Given the description of an element on the screen output the (x, y) to click on. 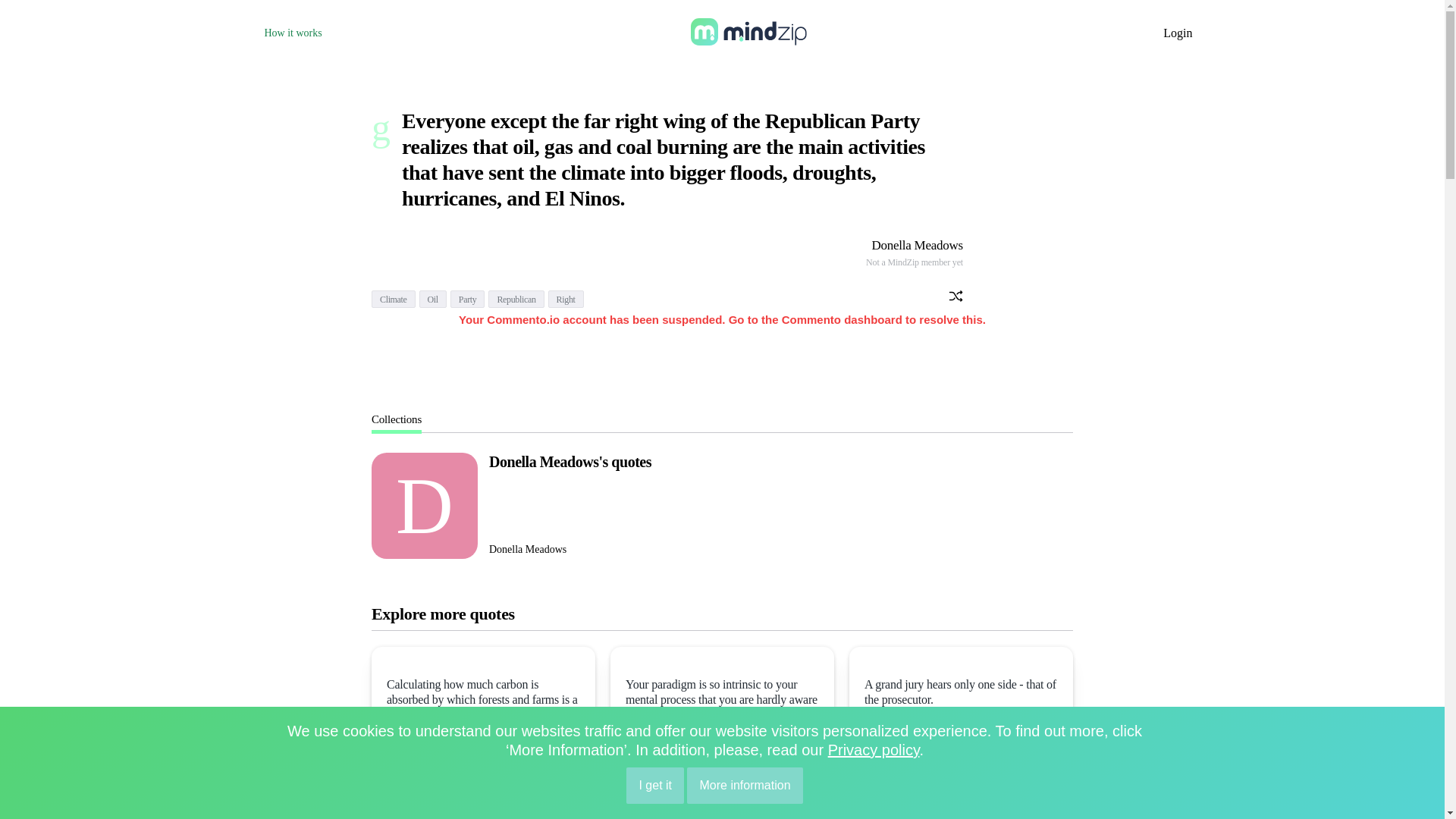
A grand jury hears only one side - that of the prosecutor. (961, 691)
Donella Meadows's quotes (569, 461)
Show random quote (955, 297)
Collections (396, 418)
D (424, 505)
Login (1177, 31)
Donella Meadows (916, 245)
How it works (292, 32)
